Given the description of an element on the screen output the (x, y) to click on. 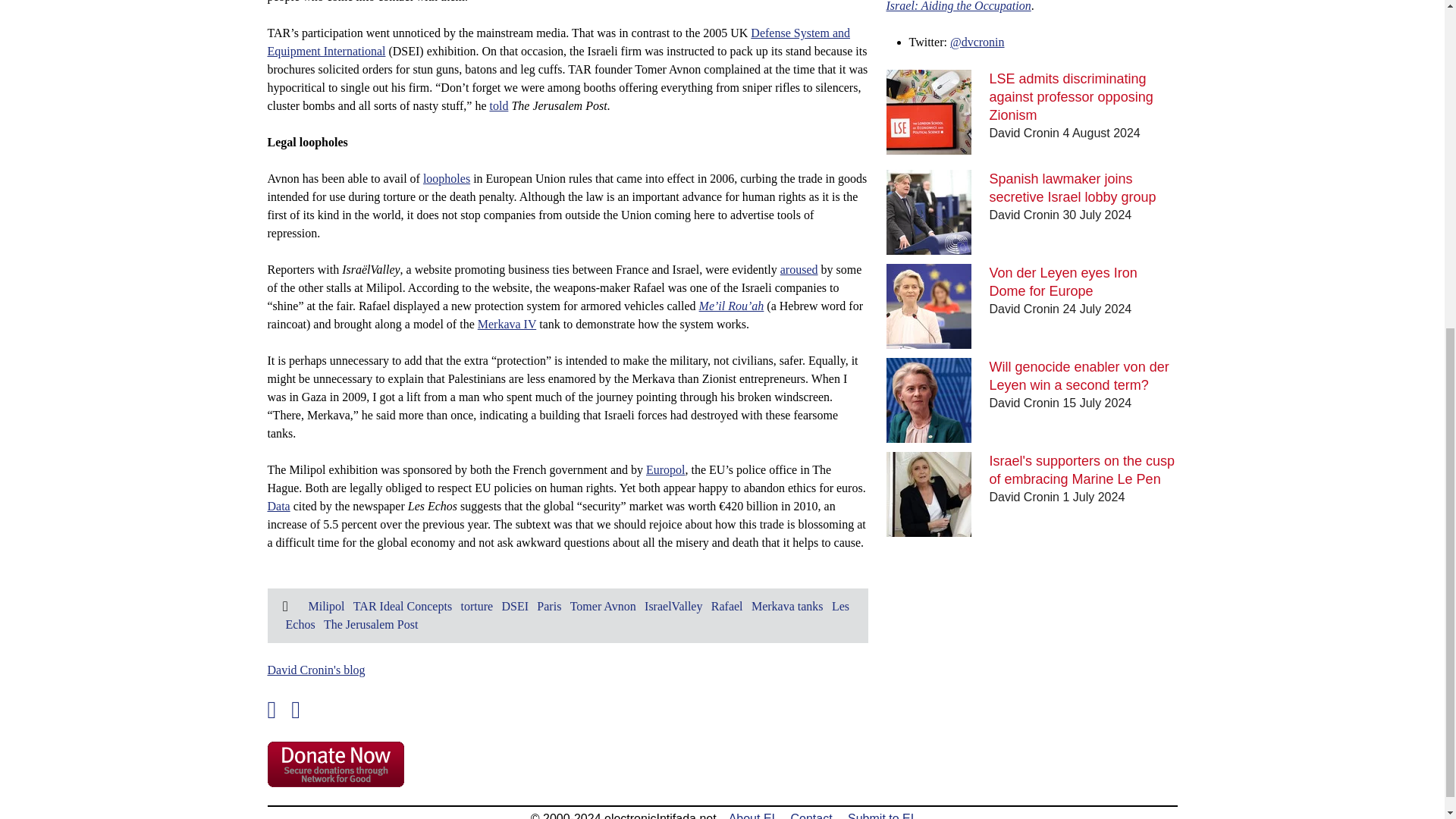
Merkava IV (506, 323)
Les Echos (566, 614)
loopholes (446, 178)
Tomer Avnon (603, 605)
IsraelValley (673, 605)
Read David Cronin's latest blog entries. (315, 669)
The Jerusalem Post (370, 624)
Europol (665, 469)
Merkava tanks (787, 605)
Rafael (726, 605)
